Given the description of an element on the screen output the (x, y) to click on. 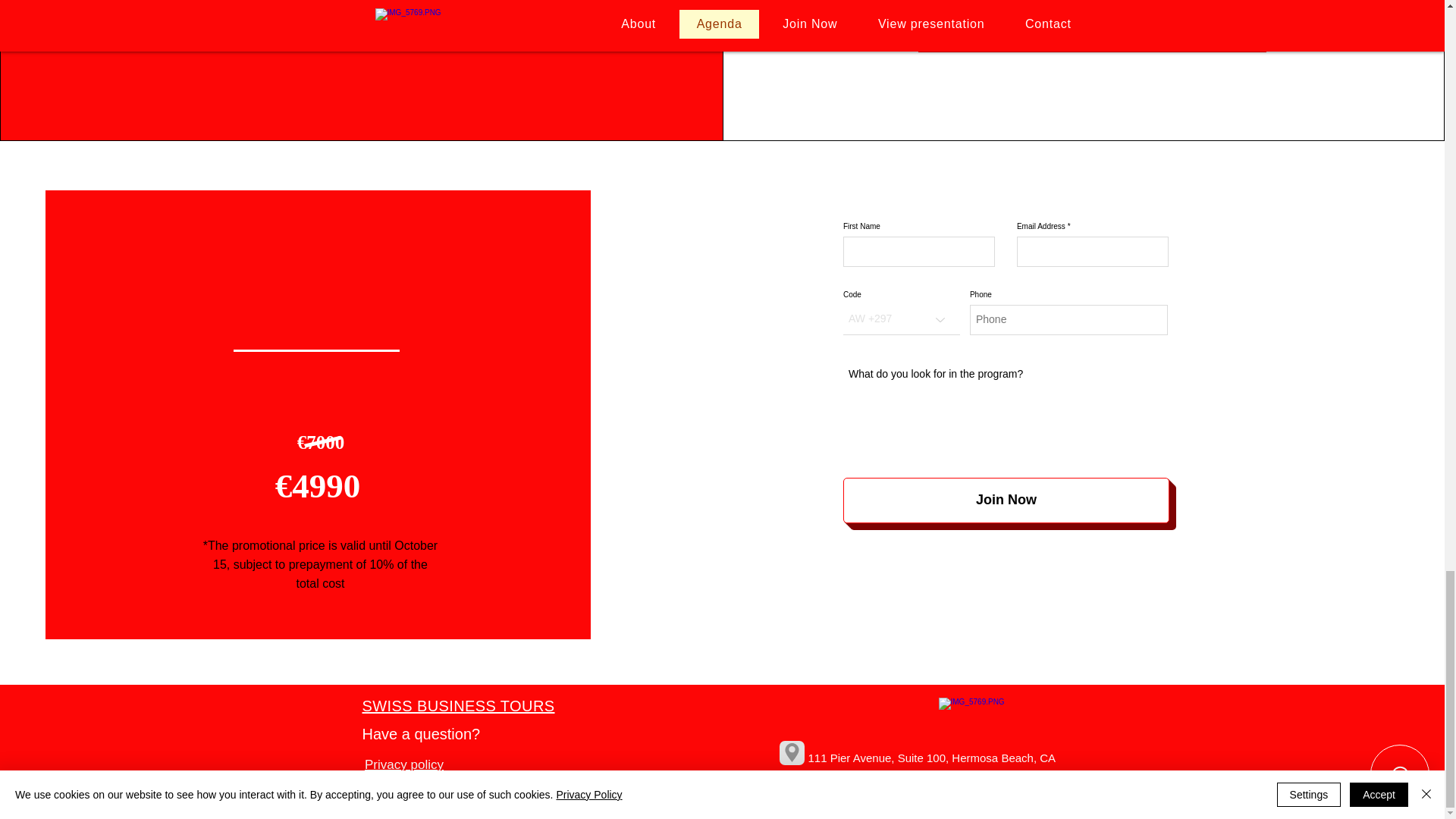
SWISS BUSINESS TOURS (458, 705)
www.swissbiztours.com (995, 794)
Privacy policy (404, 765)
Join Now (1006, 500)
